Given the description of an element on the screen output the (x, y) to click on. 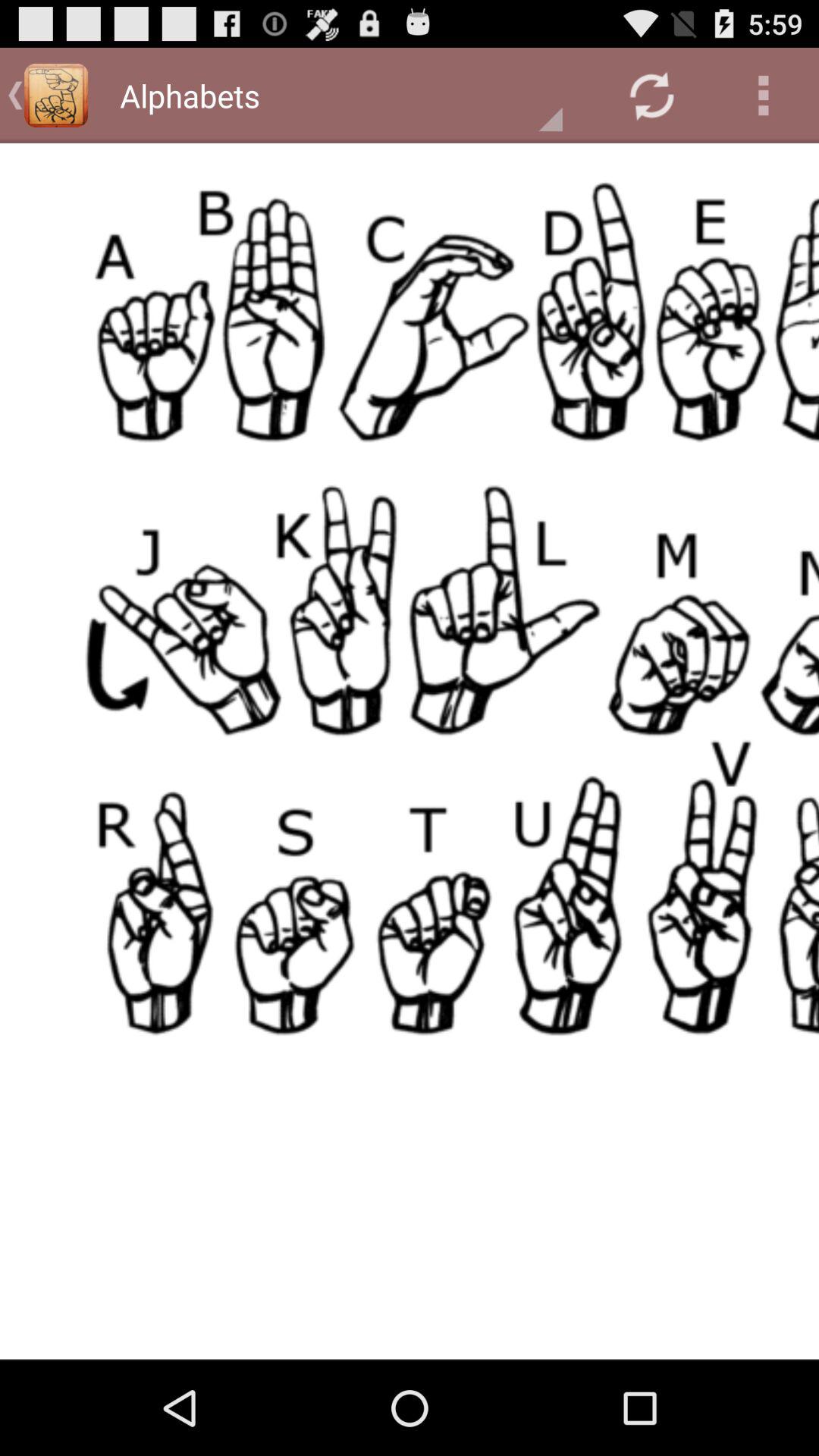
different image (409, 751)
